Given the description of an element on the screen output the (x, y) to click on. 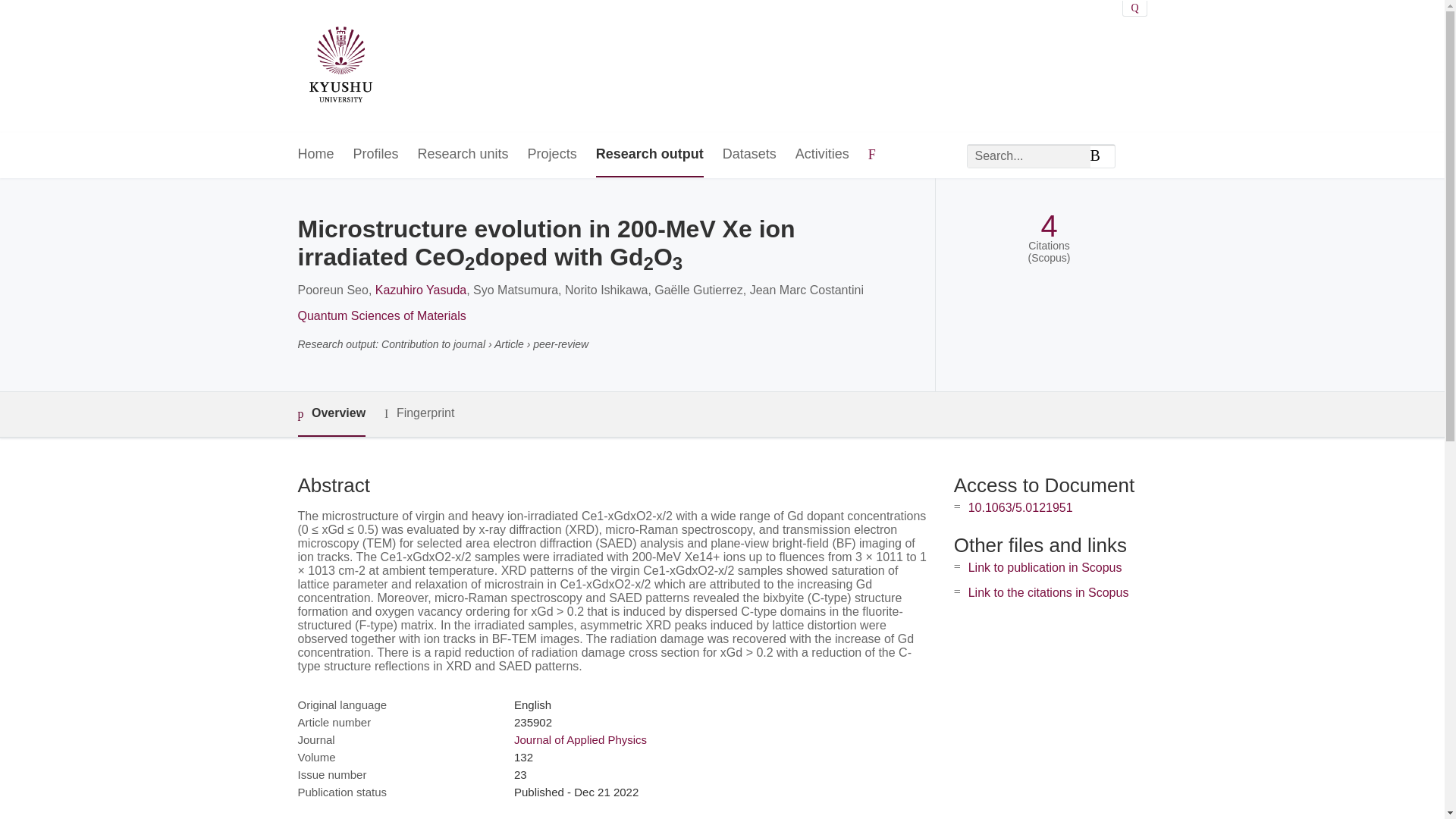
Kyushu University Home (340, 66)
Journal of Applied Physics (579, 739)
Overview (331, 414)
Datasets (749, 154)
Activities (821, 154)
Research units (462, 154)
Link to the citations in Scopus (1048, 592)
Kazuhiro Yasuda (420, 289)
Fingerprint (419, 413)
Quantum Sciences of Materials (381, 315)
Research output (649, 154)
Profiles (375, 154)
4 (1049, 225)
Home (315, 154)
